Given the description of an element on the screen output the (x, y) to click on. 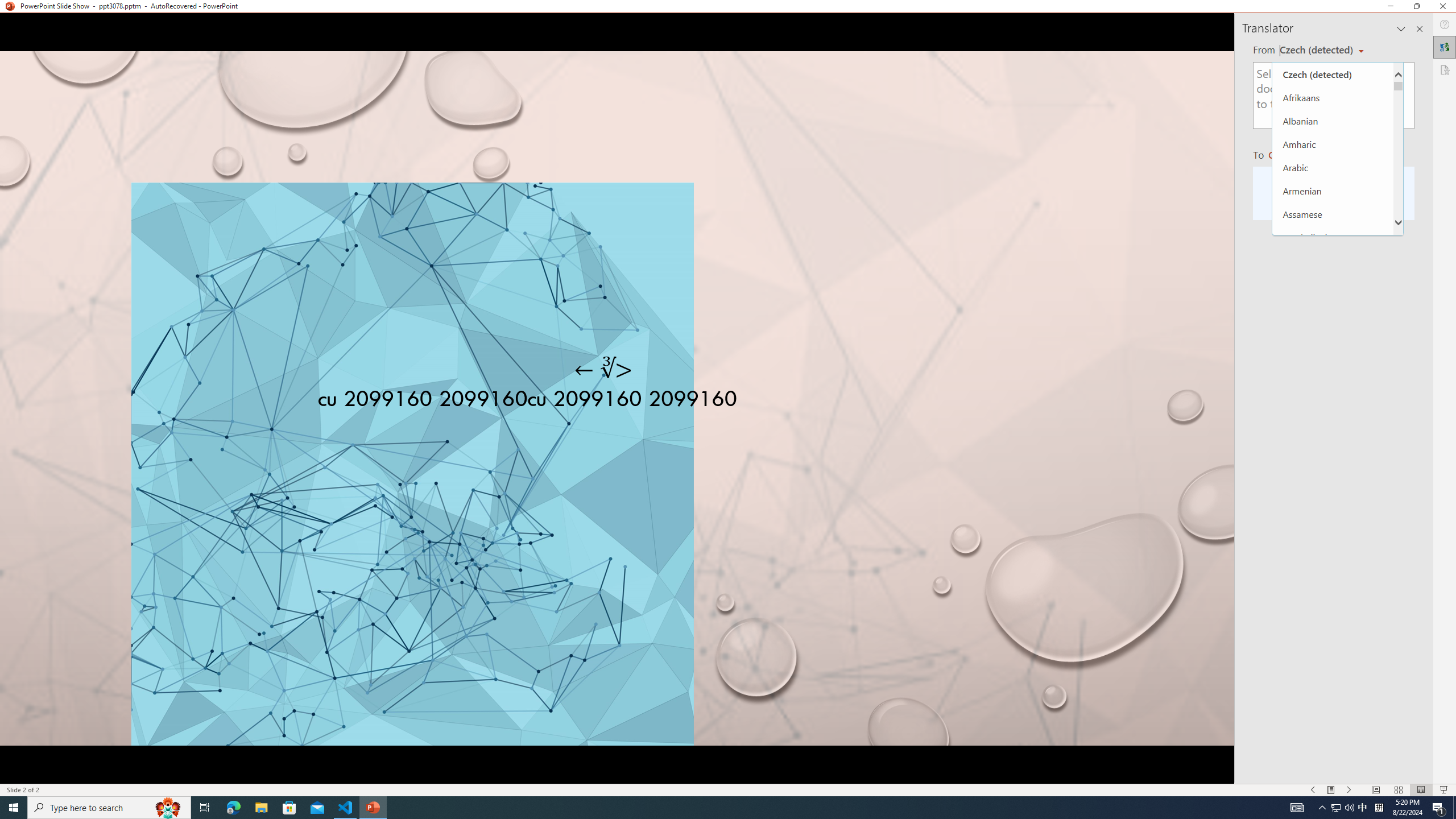
Afrikaans (1332, 96)
Faroese (1332, 772)
English (1332, 725)
Amharic (1332, 143)
Chinese (Literary) (1332, 493)
Slide Show Previous On (1313, 790)
Menu On (1331, 790)
Chinese Traditional (1332, 540)
Czech (detected) (1332, 73)
Croatian (1332, 563)
